Given the description of an element on the screen output the (x, y) to click on. 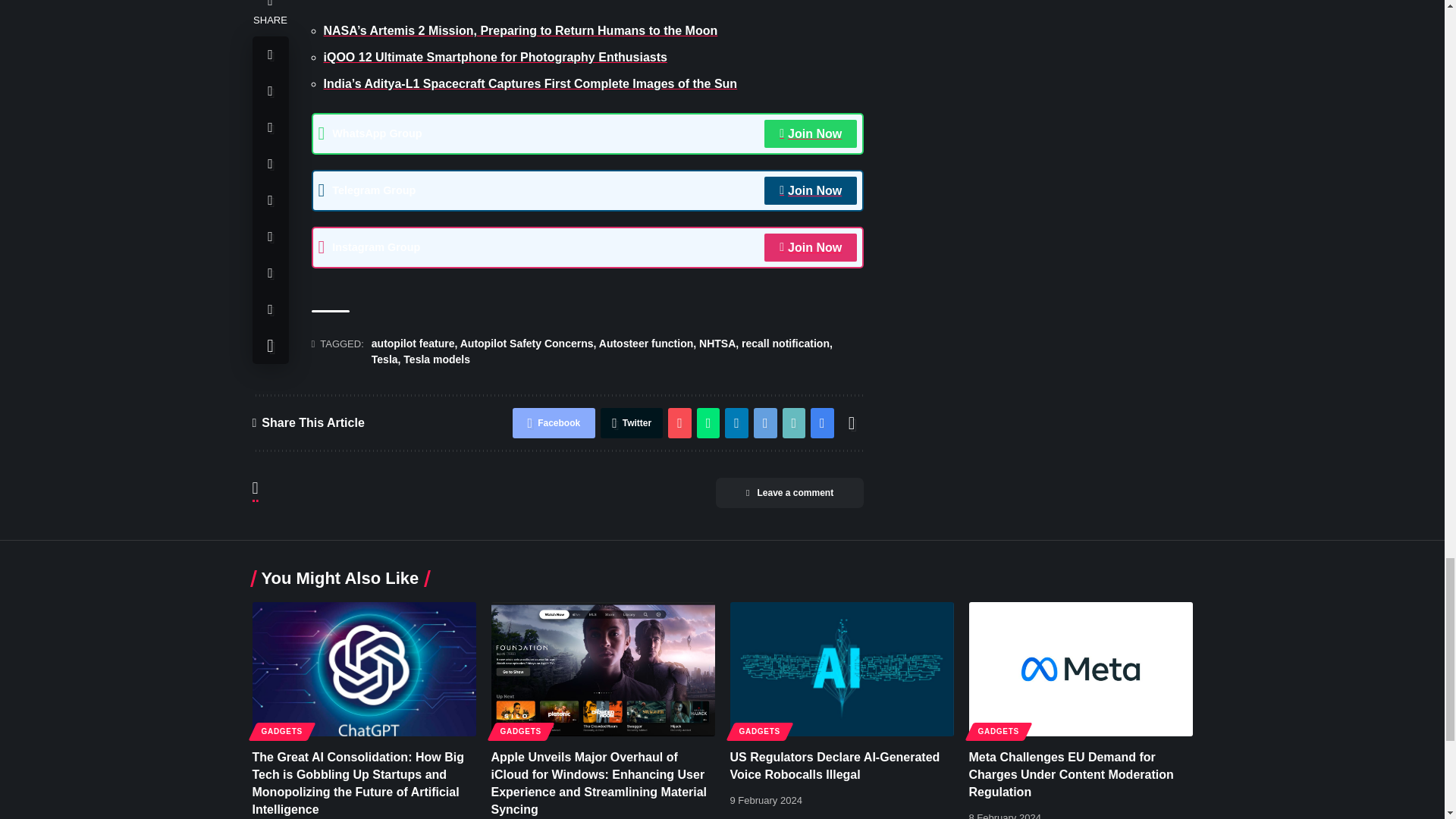
US Regulators Declare AI-Generated Voice Robocalls Illegal (841, 668)
